Given the description of an element on the screen output the (x, y) to click on. 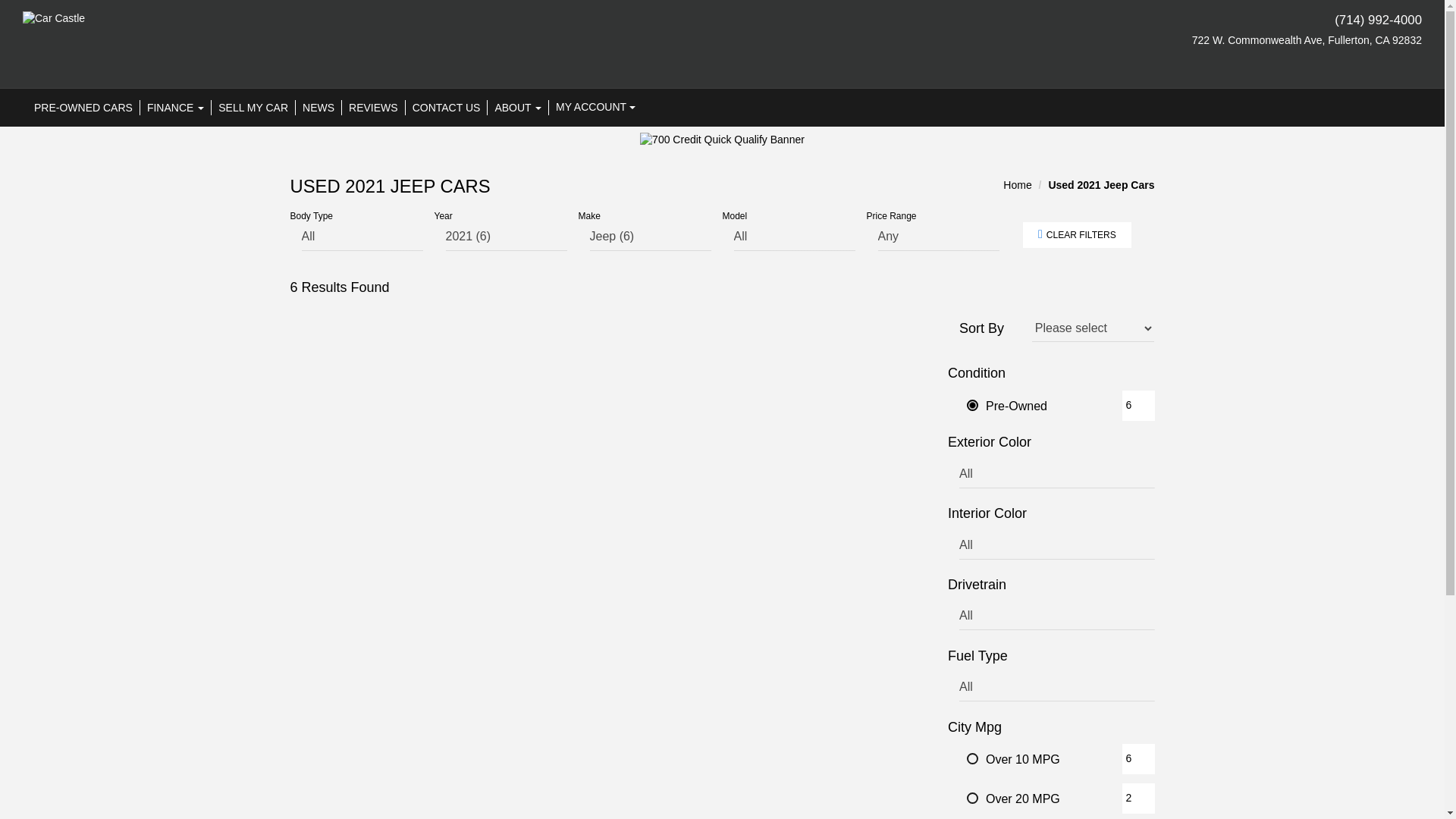
MY ACCOUNT (595, 107)
Click here to view Pre-Owned Cars (86, 107)
FINANCE (175, 107)
PRE-OWNED CARS (86, 107)
722 W. Commonwealth Ave, Fullerton, CA 92832 (1196, 40)
Dealership Address (1196, 40)
CLEAR FILTERS (1076, 234)
NEWS (318, 107)
REVIEWS (374, 107)
Click here to view Reviews (374, 107)
Click here to view News (318, 107)
Click here to contact us (446, 107)
Click here to view Sell My Car (253, 107)
Home (1016, 184)
Click here to read about us (517, 107)
